Given the description of an element on the screen output the (x, y) to click on. 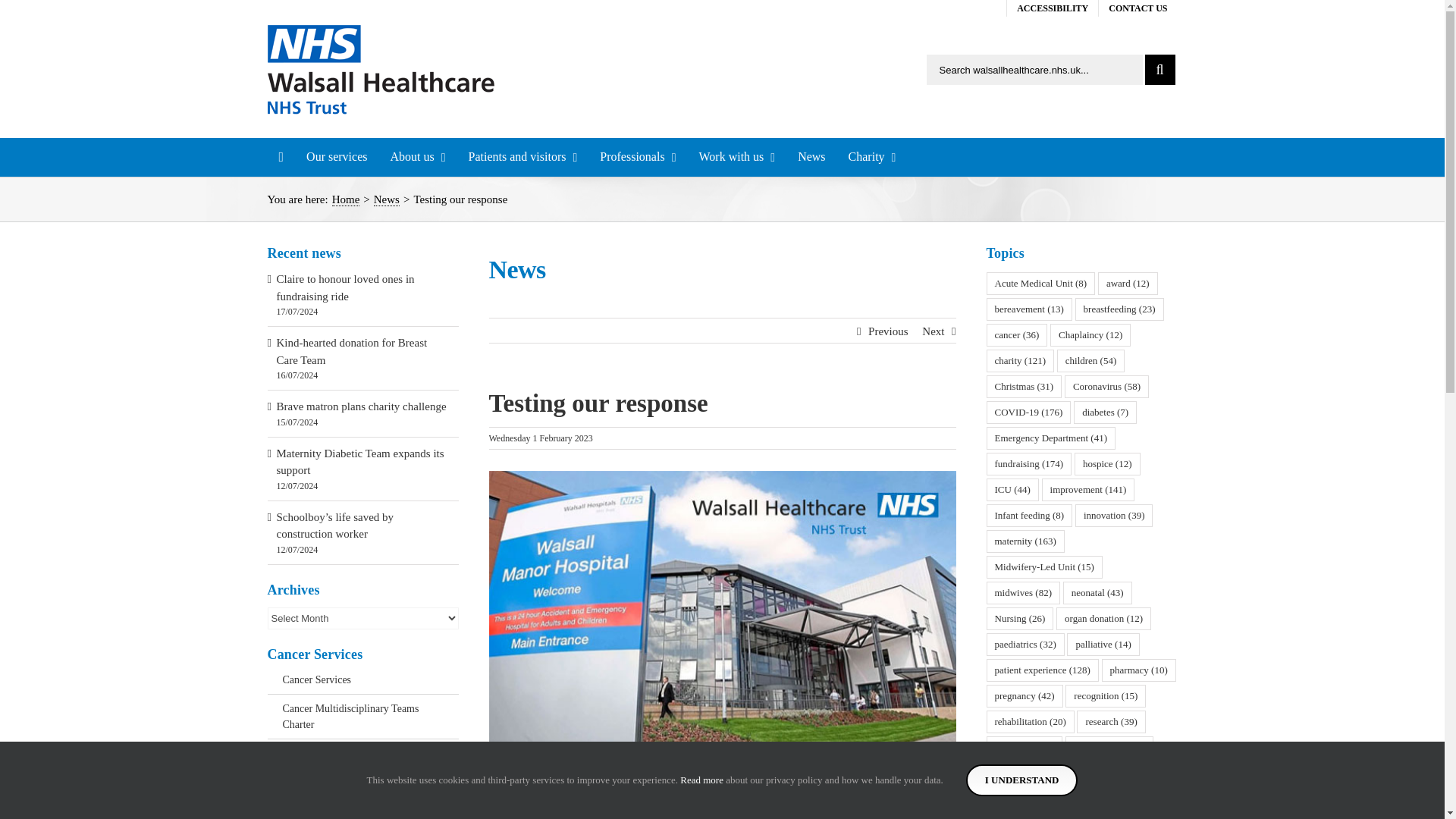
CONTACT US (1137, 8)
Our services (336, 157)
About us (417, 157)
Patients and visitors (523, 157)
ACCESSIBILITY (1052, 8)
